Given the description of an element on the screen output the (x, y) to click on. 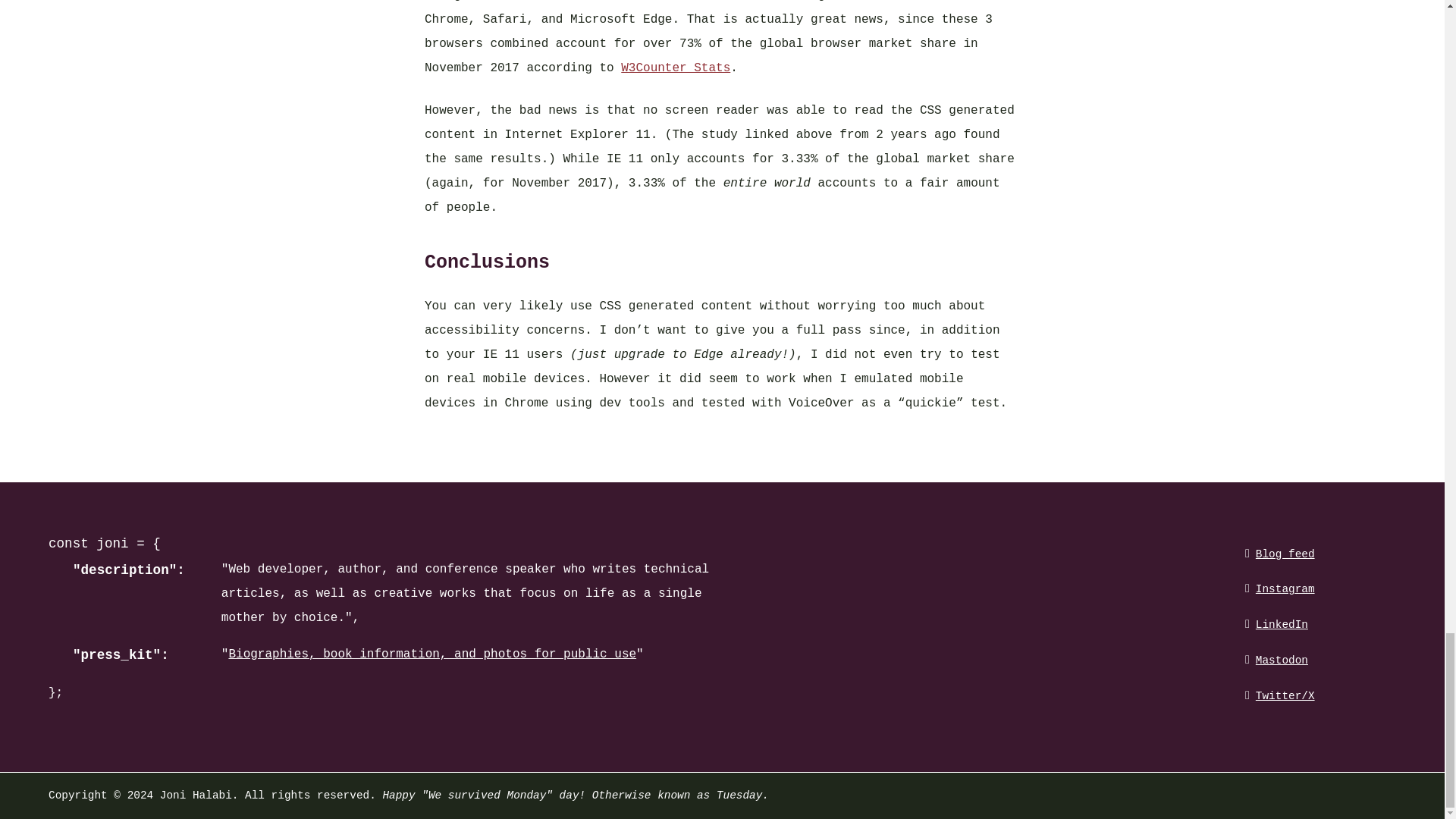
Blog feed (1286, 553)
LinkedIn (1286, 624)
Biographies, book information, and photos for public use (432, 653)
W3Counter Stats (675, 68)
Mastodon (1286, 659)
Instagram (1286, 588)
